Given the description of an element on the screen output the (x, y) to click on. 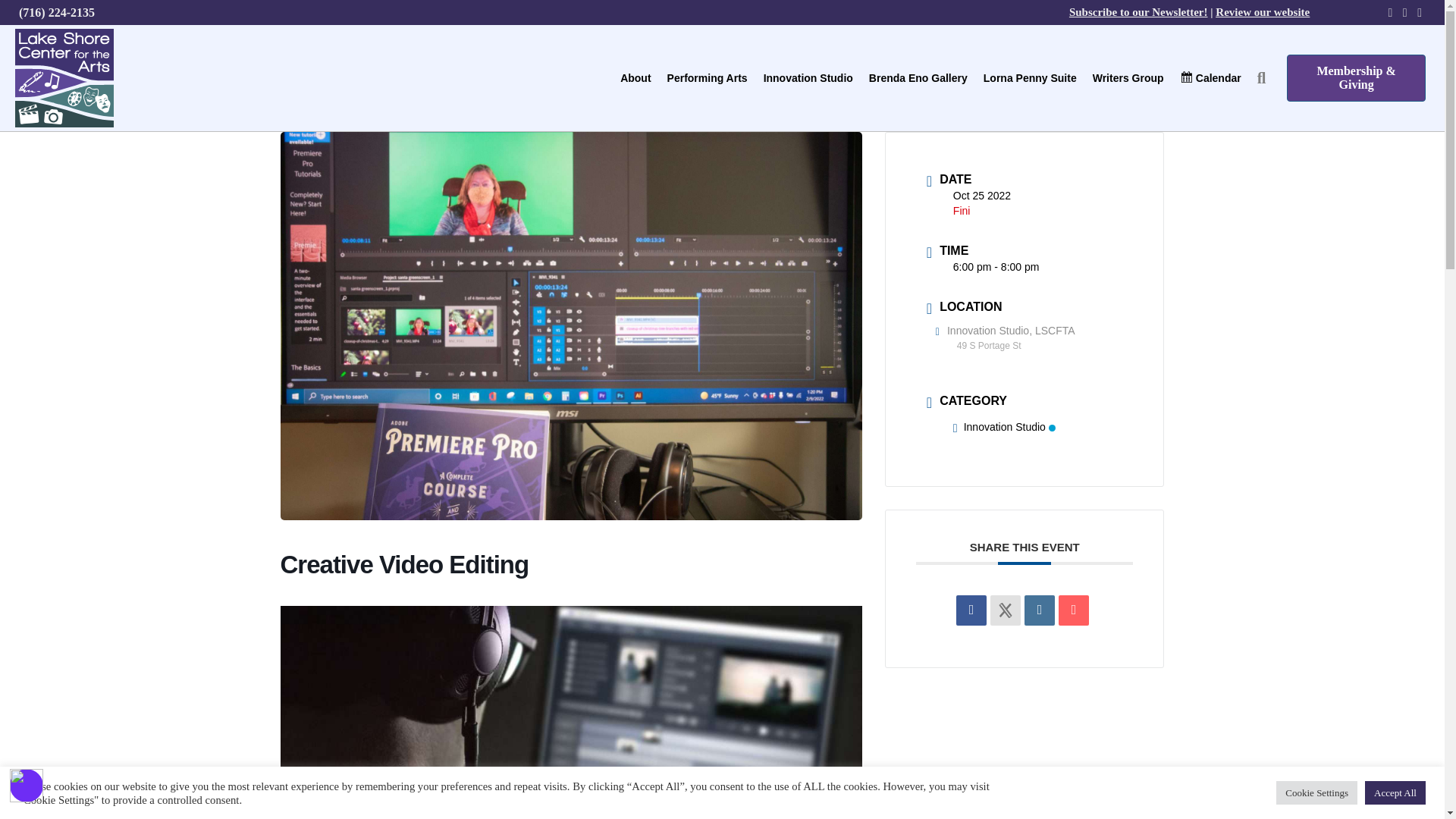
Innovation Studio (807, 77)
Email (1073, 610)
About (635, 77)
Subscribe to our Newsletter! (1138, 11)
X Social Network (1005, 610)
Share on Facebook (971, 610)
Linkedin (1039, 610)
Accessibility Menu (26, 785)
Review our website (1261, 11)
Performing Arts (707, 77)
